Given the description of an element on the screen output the (x, y) to click on. 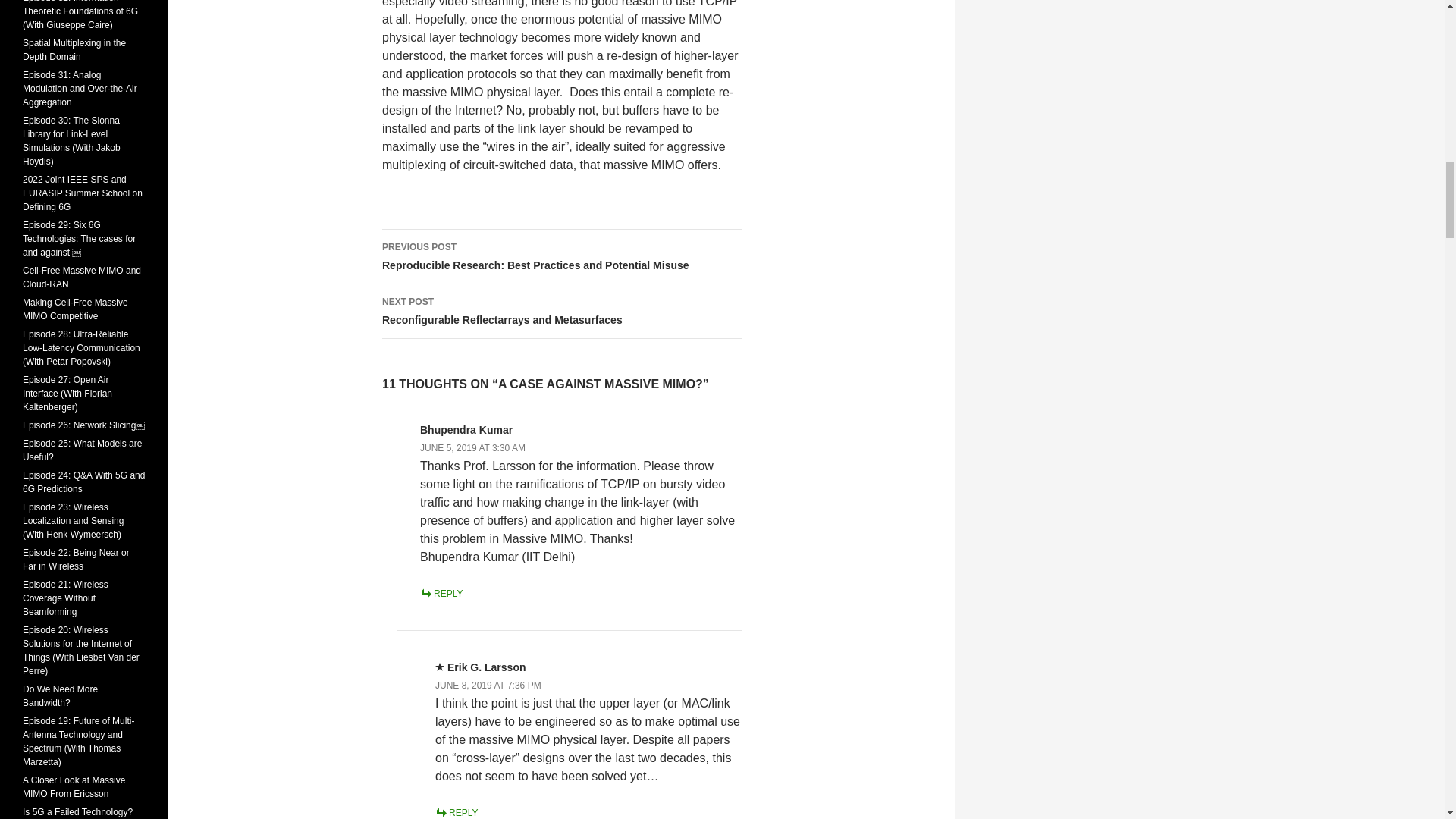
JUNE 8, 2019 AT 7:36 PM (488, 685)
JUNE 5, 2019 AT 3:30 AM (472, 448)
REPLY (561, 311)
REPLY (441, 593)
